Given the description of an element on the screen output the (x, y) to click on. 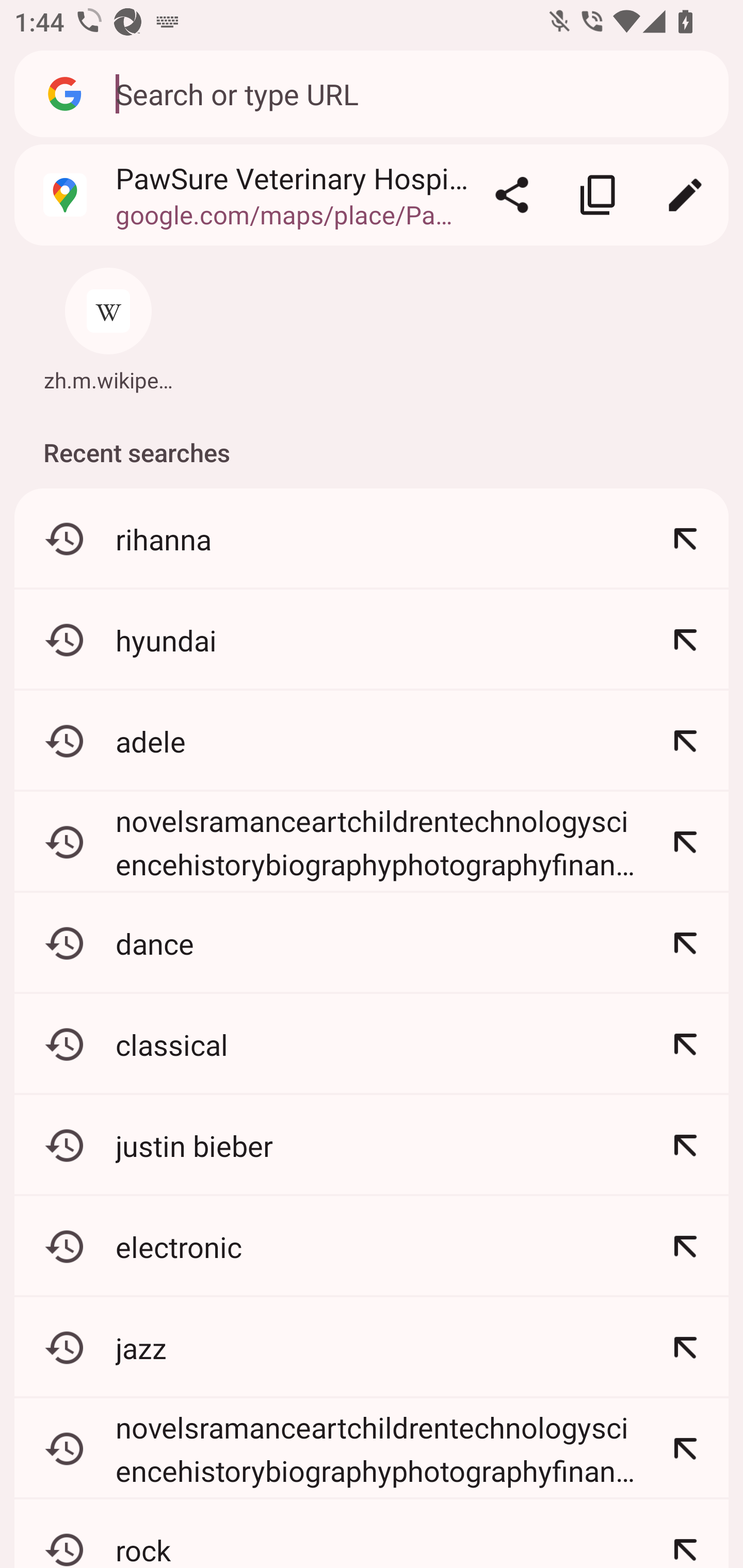
Search or type URL (410, 92)
Share… (511, 195)
Copy link (598, 195)
Edit (684, 195)
rihanna Refine: rihanna (371, 539)
Refine: rihanna (684, 539)
hyundai Refine: hyundai (371, 639)
Refine: hyundai (684, 639)
adele Refine: adele (371, 740)
Refine: adele (684, 740)
dance Refine: dance (371, 943)
Refine: dance (684, 943)
classical Refine: classical (371, 1044)
Refine: classical (684, 1044)
justin bieber Refine: justin bieber (371, 1145)
Refine: justin bieber (684, 1145)
electronic Refine: electronic (371, 1246)
Refine: electronic (684, 1246)
jazz Refine: jazz (371, 1347)
Refine: jazz (684, 1347)
rock Refine: rock (371, 1533)
Refine: rock (684, 1533)
